Given the description of an element on the screen output the (x, y) to click on. 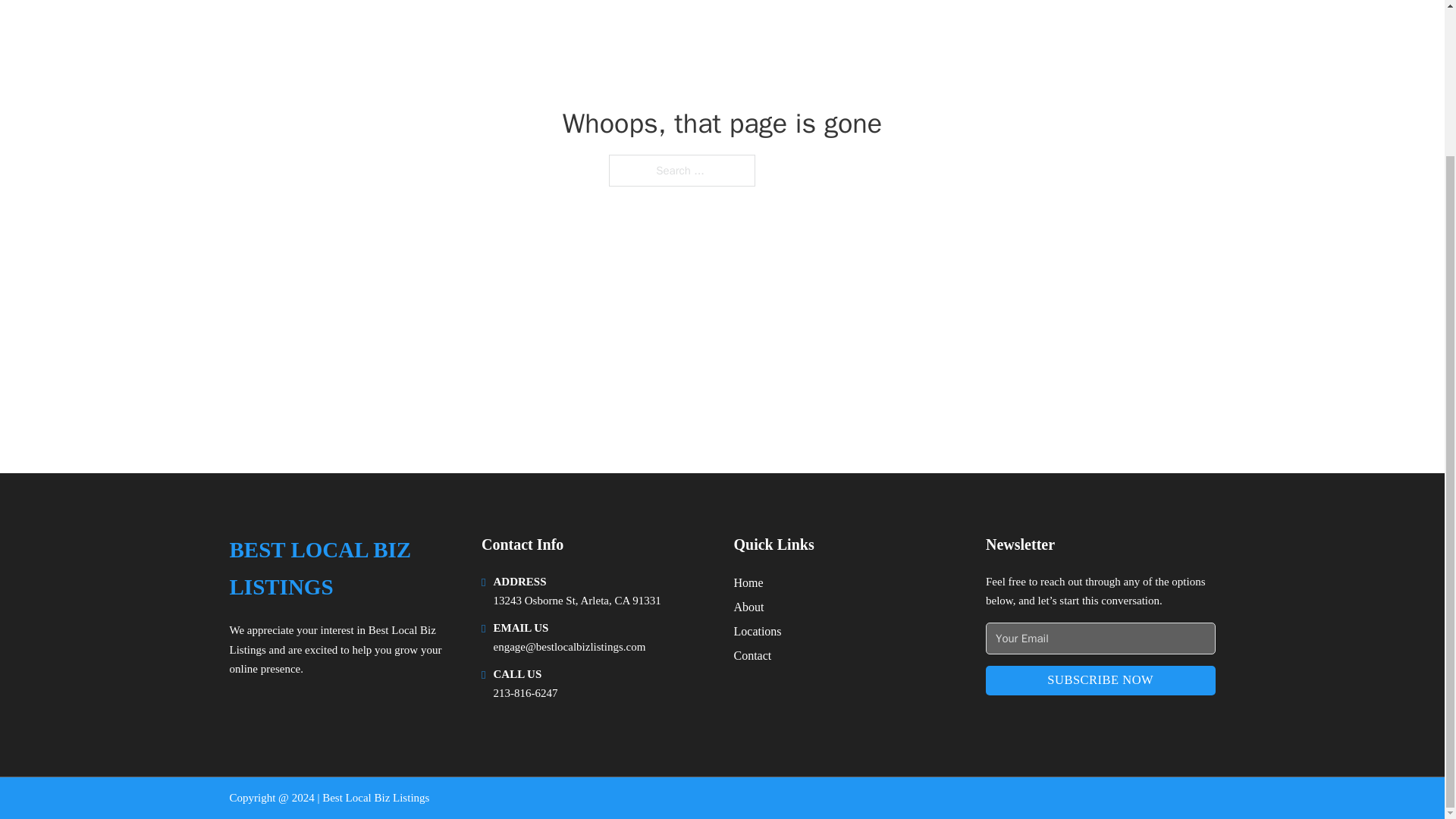
Home (747, 582)
About (748, 607)
BEST LOCAL BIZ LISTINGS (343, 568)
Contact (752, 655)
213-816-6247 (525, 693)
SUBSCRIBE NOW (1100, 680)
Locations (757, 630)
